Given the description of an element on the screen output the (x, y) to click on. 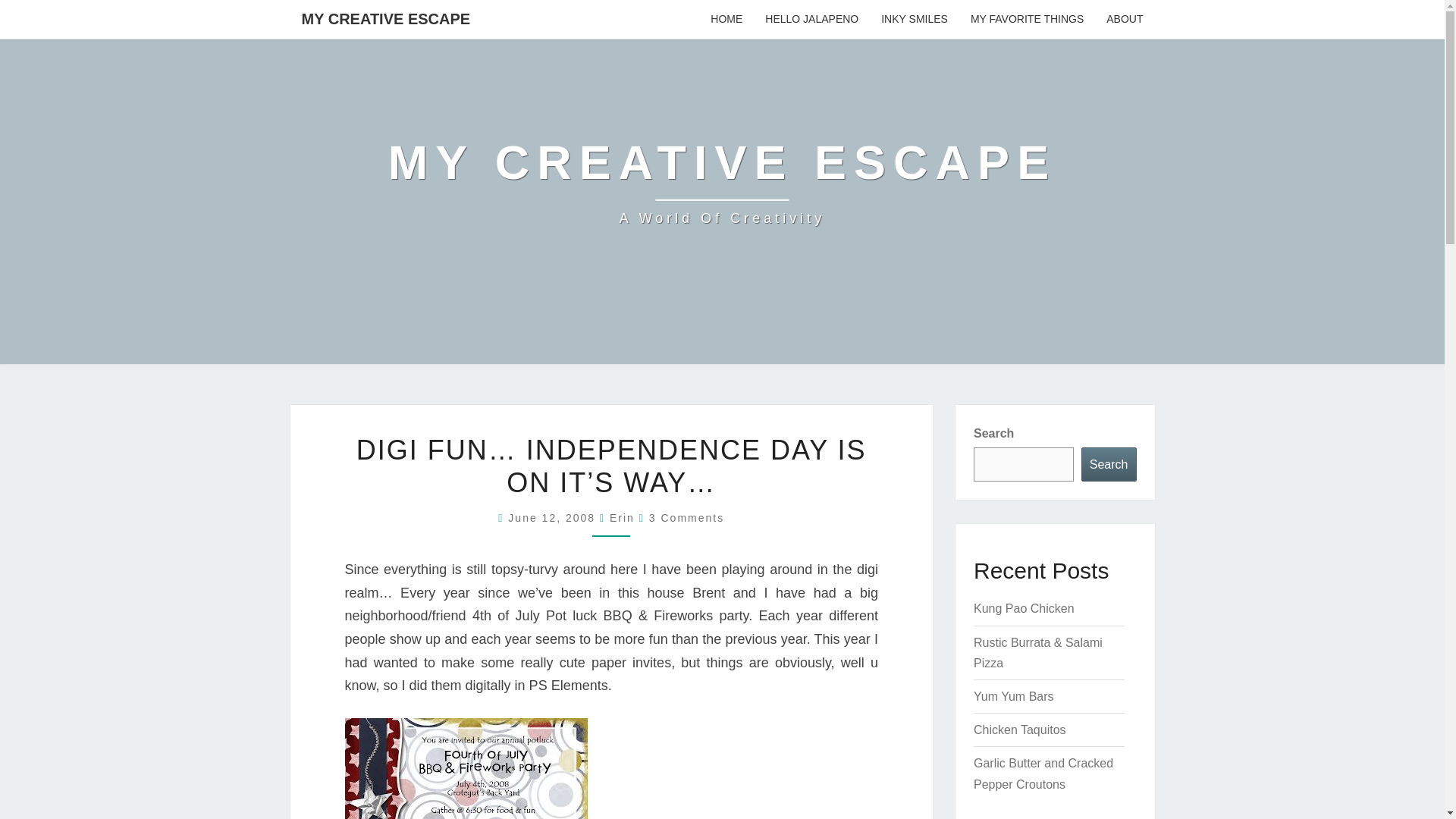
HOME (726, 19)
My Creative Escape (722, 182)
3 Comments (686, 517)
Chicken Taquitos (1019, 729)
June 12, 2008 (553, 517)
MY FAVORITE THINGS (1026, 19)
Kung Pao Chicken (1024, 608)
INKY SMILES (914, 19)
8:58 pm (722, 182)
